Given the description of an element on the screen output the (x, y) to click on. 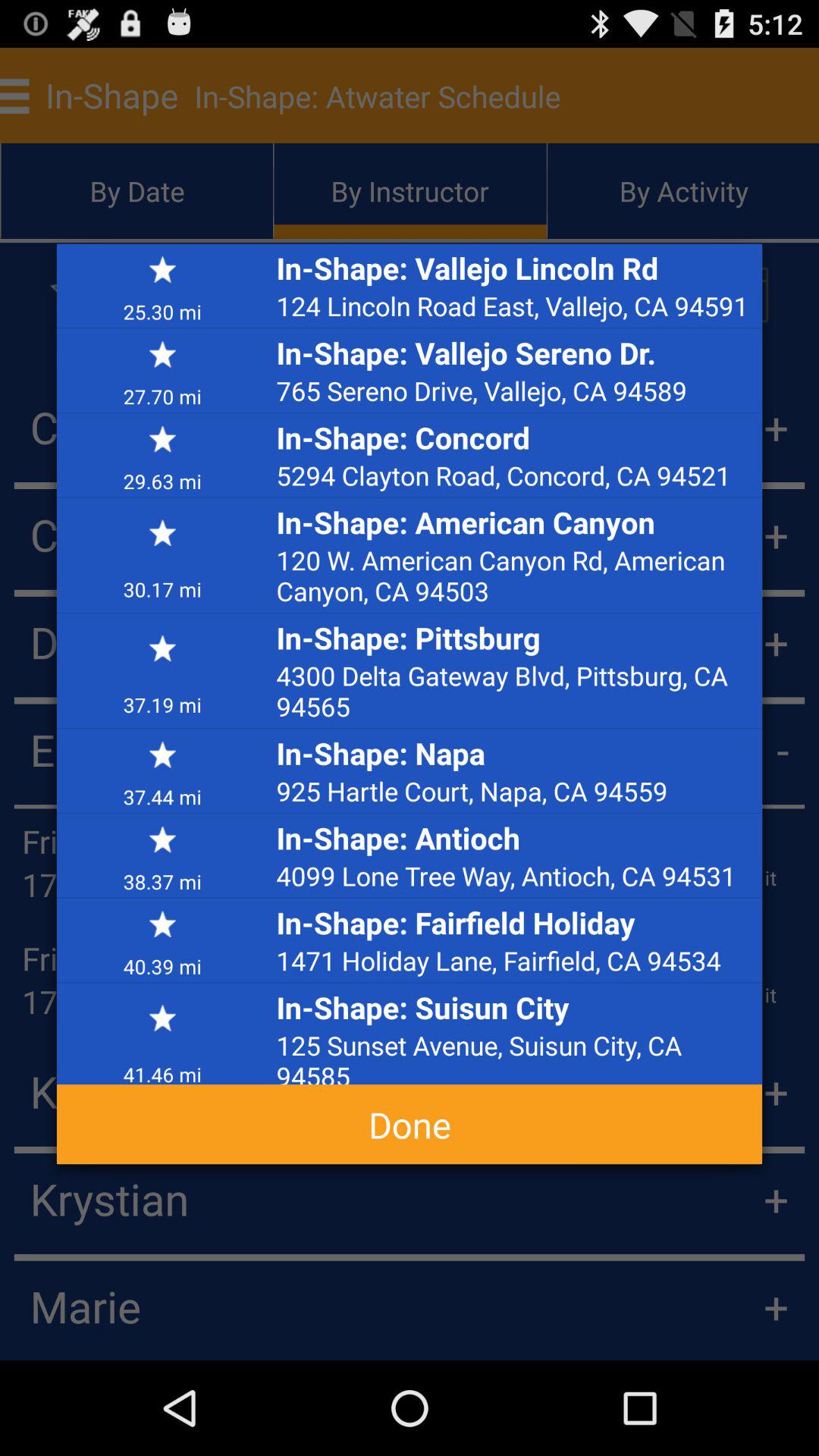
tap the icon below the in shape fairfield icon (515, 960)
